Given the description of an element on the screen output the (x, y) to click on. 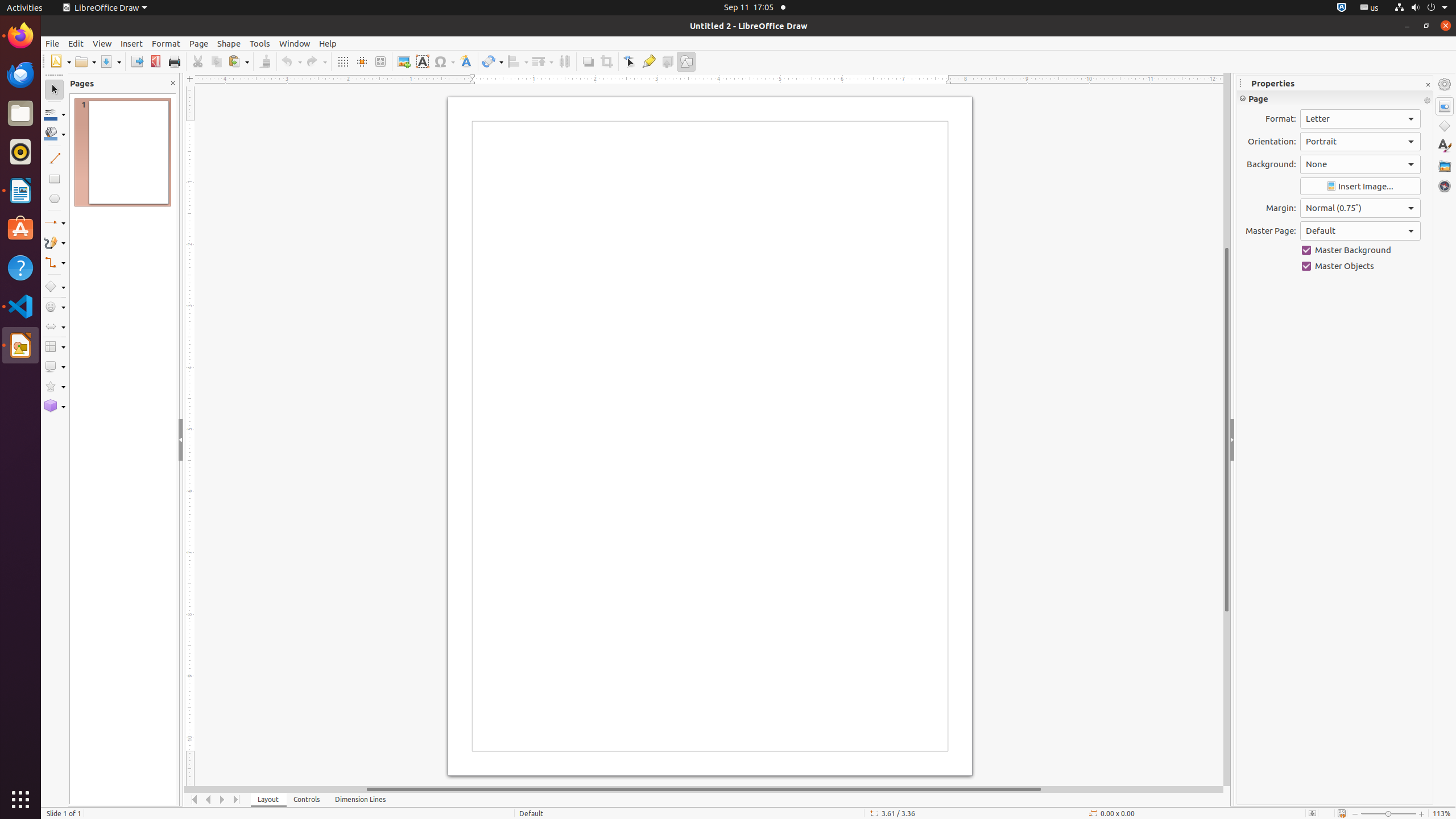
Vertical scroll bar Element type: scroll-bar (1226, 429)
System Element type: menu (1420, 7)
Line Element type: push-button (53, 158)
Background: Element type: combo-box (1360, 164)
Connectors Element type: push-button (54, 262)
